Given the description of an element on the screen output the (x, y) to click on. 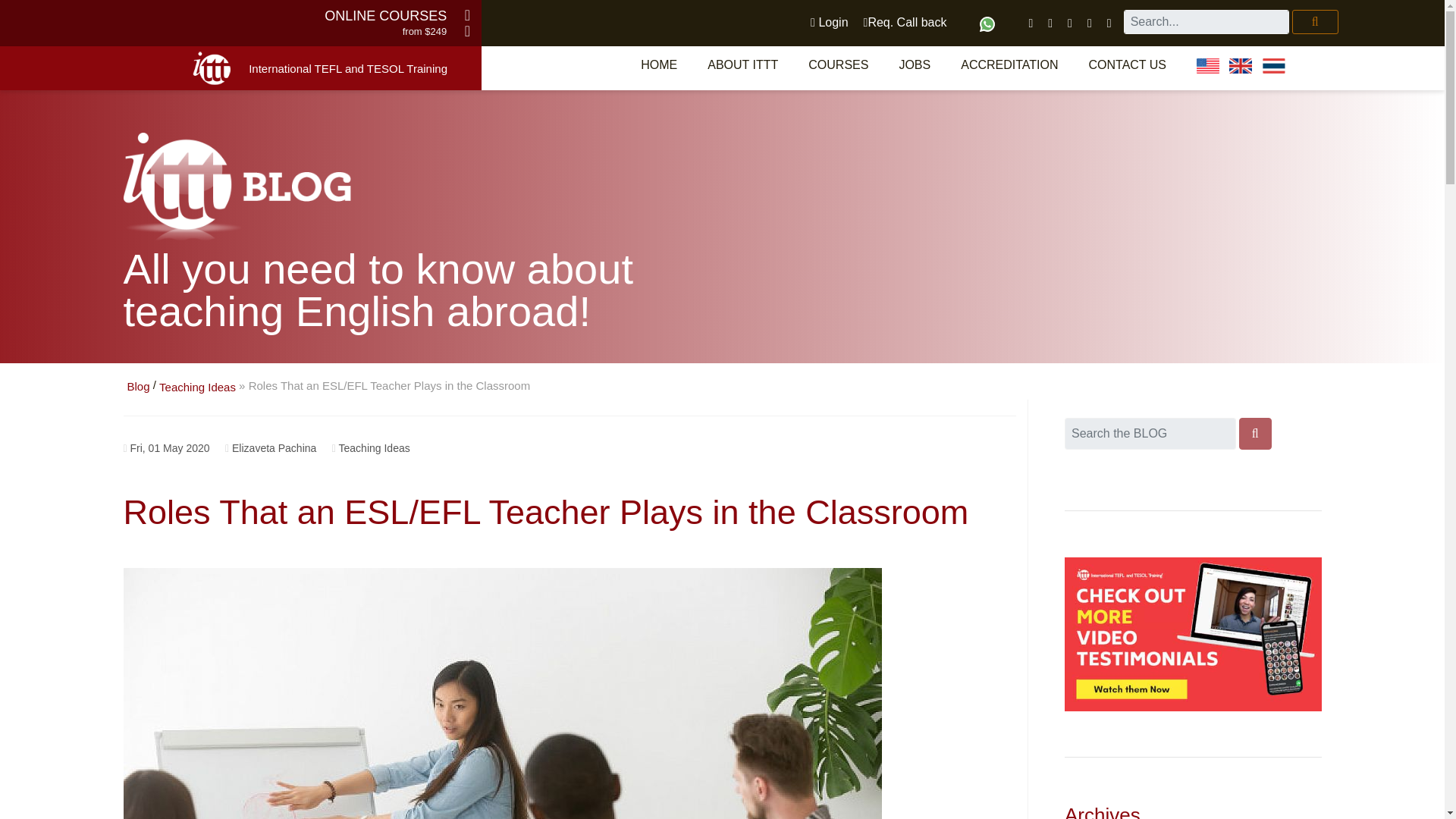
COURSES (838, 64)
ABOUT ITTT (743, 64)
Request a call back (905, 22)
USA Office (1208, 65)
International TEFL and TESOL Training (347, 68)
UK Office (1240, 65)
Login (828, 22)
Req. Call back (905, 22)
Thailand Office (1273, 65)
HOME (659, 64)
